Given the description of an element on the screen output the (x, y) to click on. 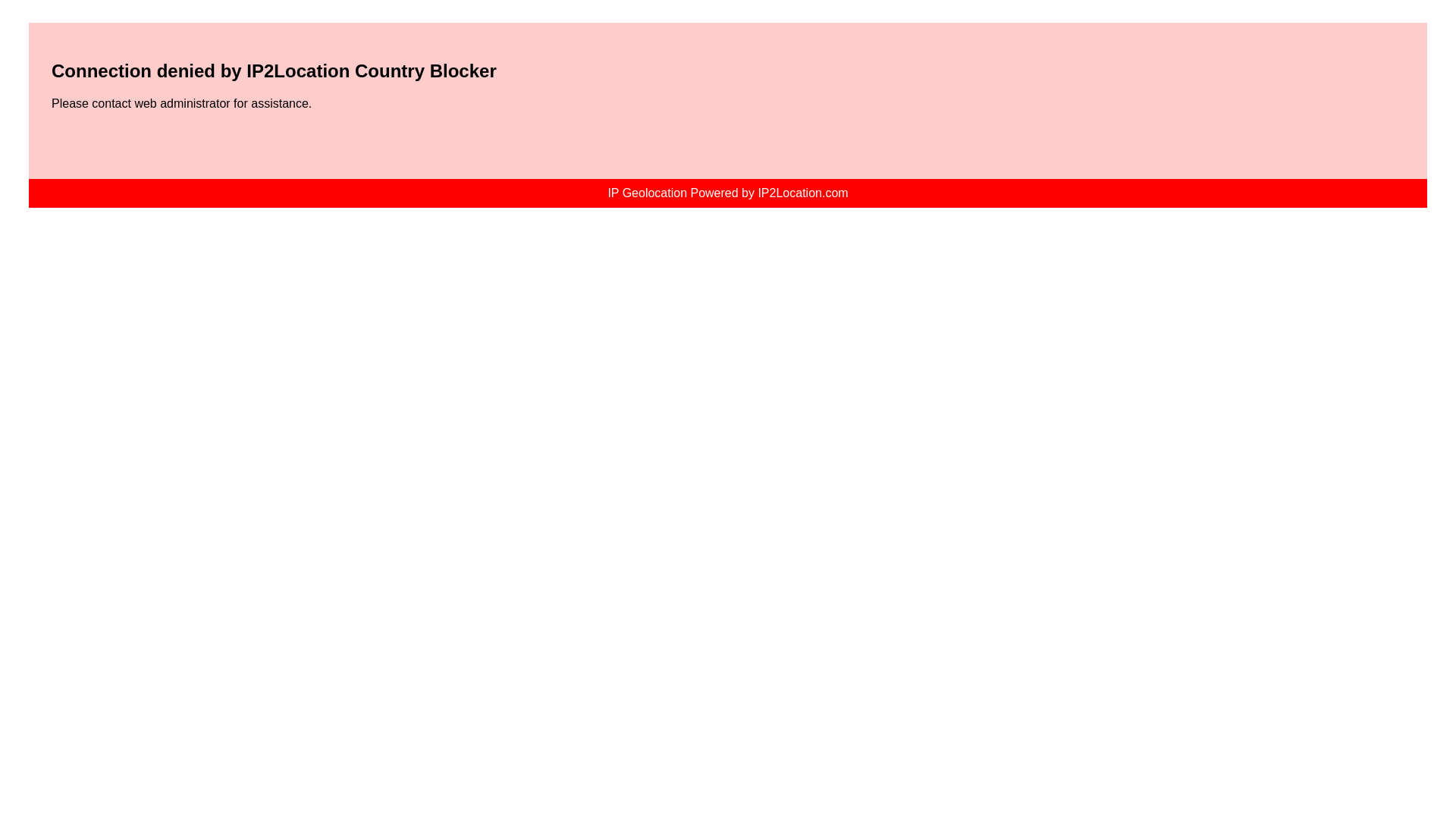
IP Geolocation Powered by IP2Location.com Element type: text (727, 192)
